Given the description of an element on the screen output the (x, y) to click on. 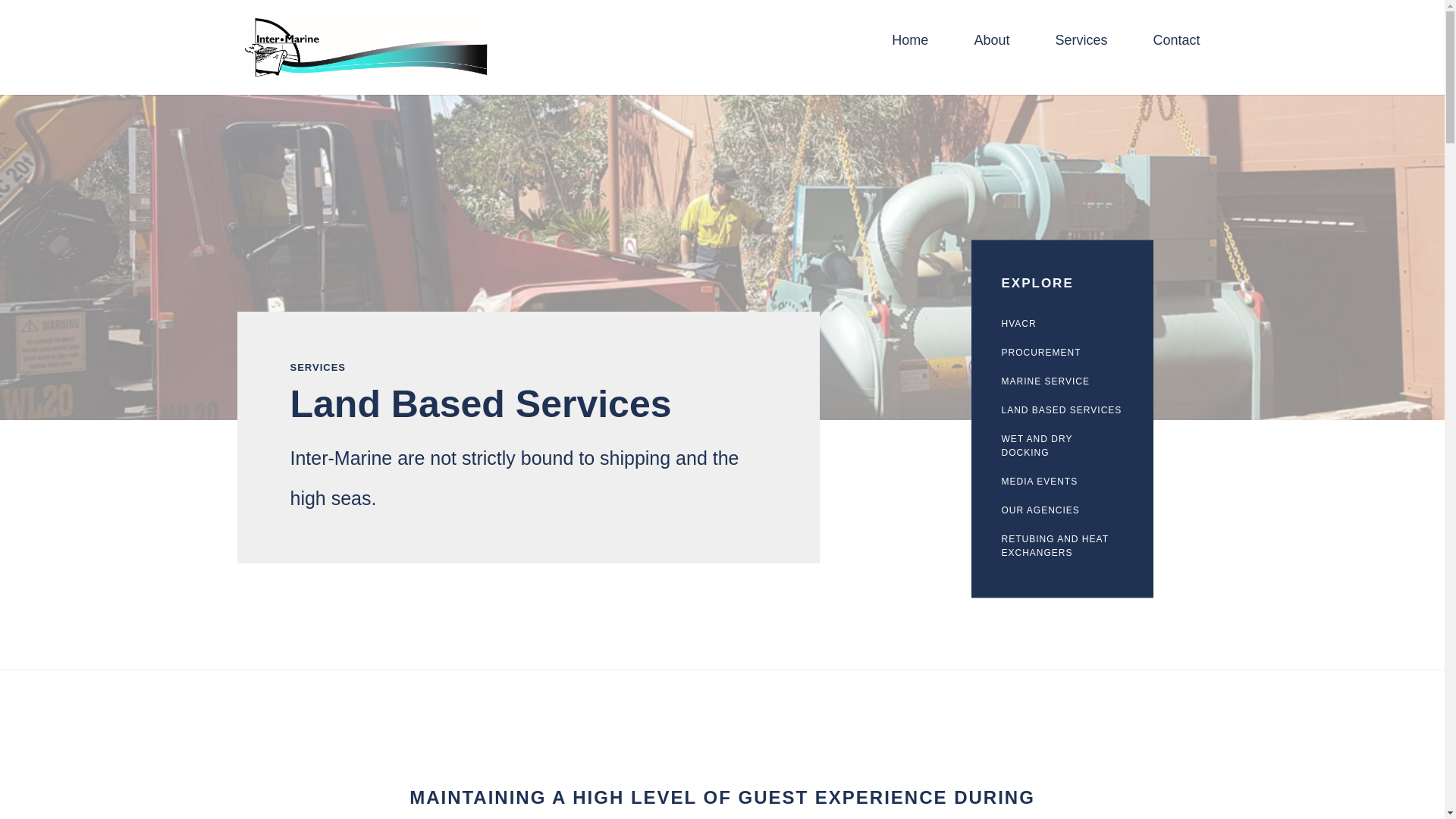
Home (909, 47)
MEDIA EVENTS (1061, 481)
OUR AGENCIES (1061, 510)
Services (1080, 47)
PROCUREMENT (1061, 353)
About (991, 47)
HVACR (1061, 324)
RETUBING AND HEAT EXCHANGERS (1061, 546)
Contact (1176, 47)
WET AND DRY DOCKING (1061, 446)
